Given the description of an element on the screen output the (x, y) to click on. 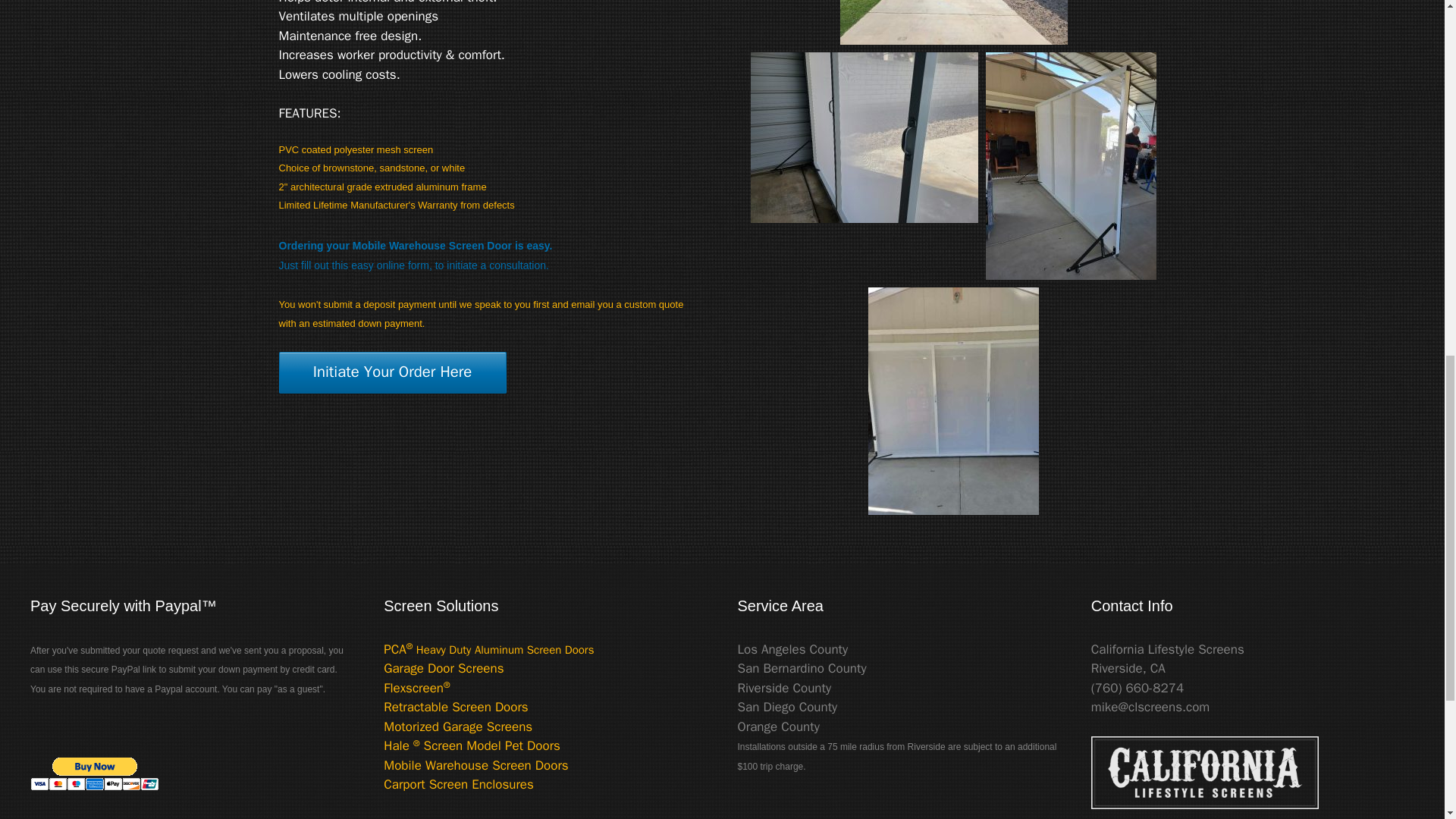
Mobile Warehouse Screen Doors (475, 765)
Initiate Your Order Here (392, 372)
Carport Screen Enclosures (459, 784)
Garage Door Screens (443, 668)
Retractable Screen Doors (455, 706)
Motorized Garage Screens (458, 726)
